Given the description of an element on the screen output the (x, y) to click on. 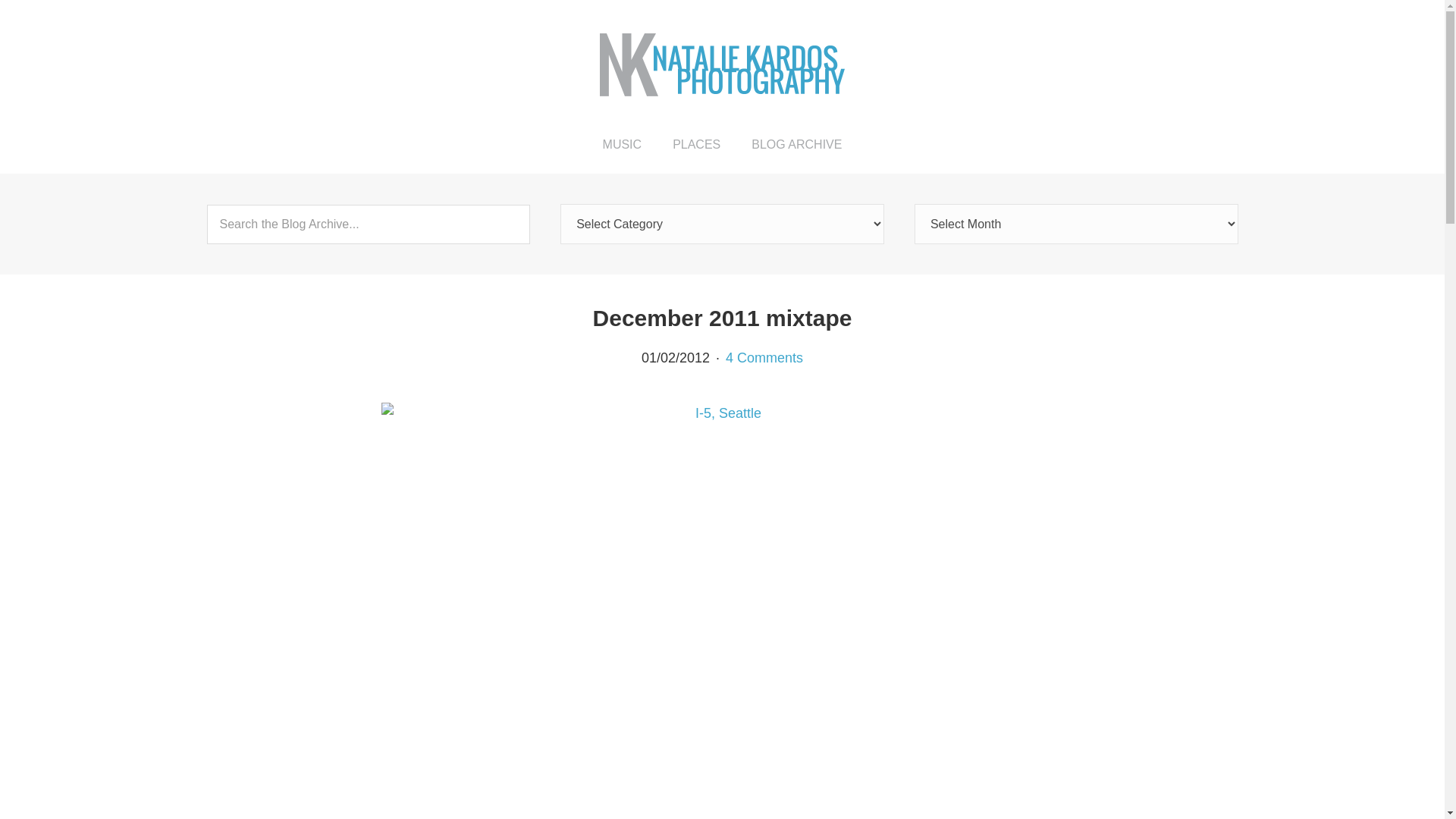
I-5, Seattle by TooSunnyOutHere, on Flickr (721, 412)
MUSIC (623, 144)
logo (721, 64)
PLACES (696, 144)
4 Comments (764, 357)
BLOG ARCHIVE (796, 144)
